Given the description of an element on the screen output the (x, y) to click on. 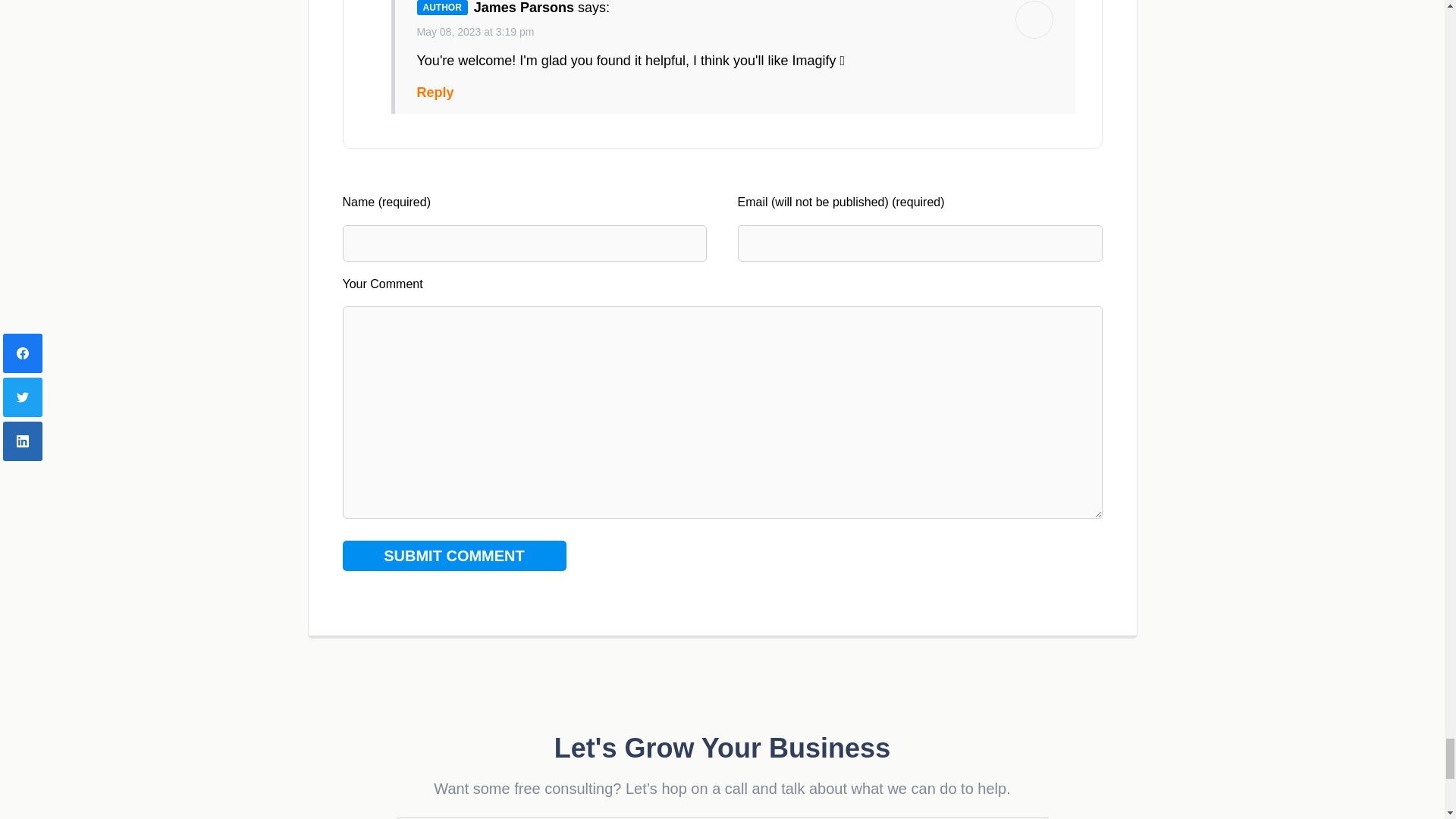
Submit Comment (454, 555)
